Given the description of an element on the screen output the (x, y) to click on. 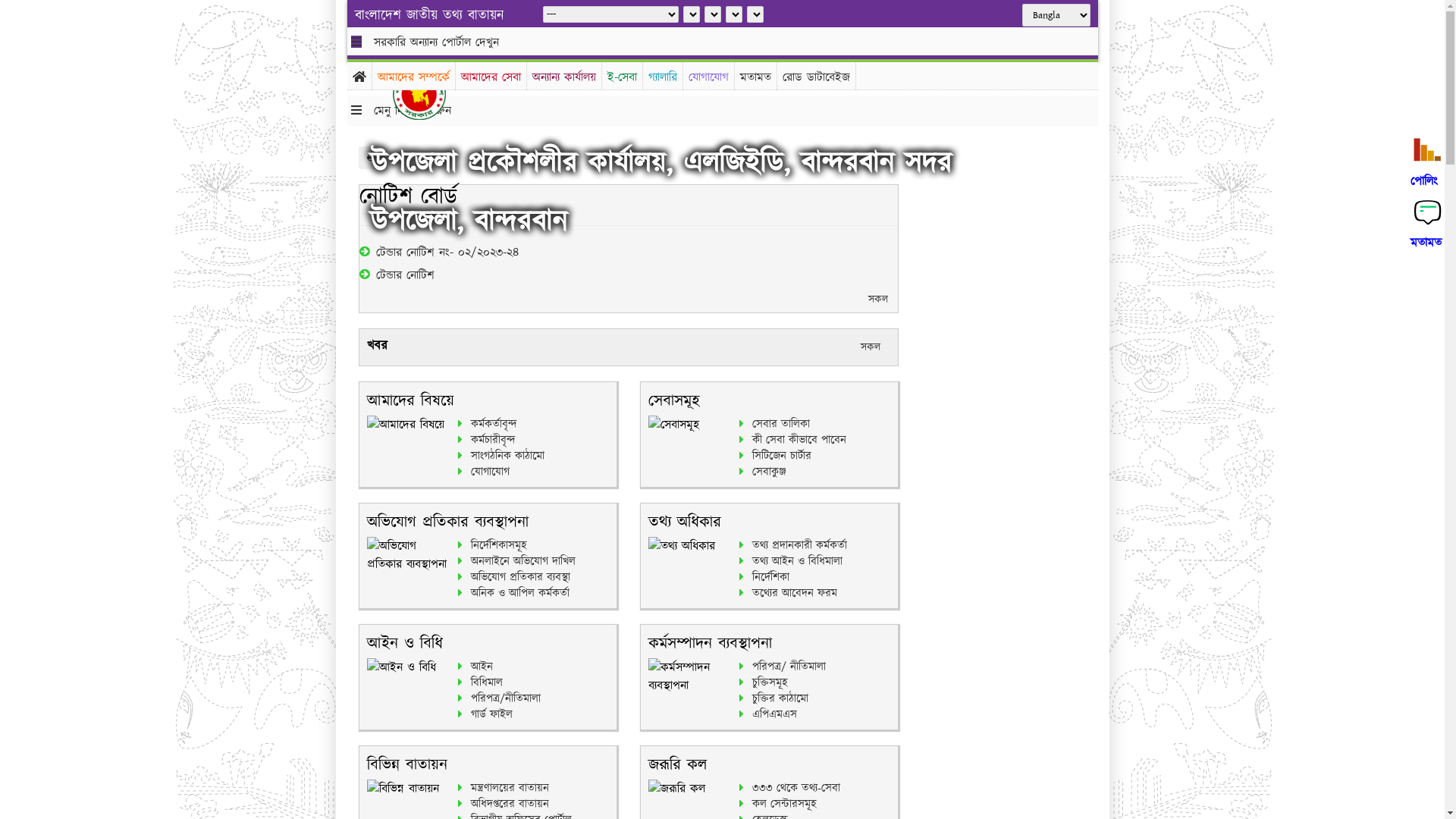

                
             Element type: hover (430, 93)
